Given the description of an element on the screen output the (x, y) to click on. 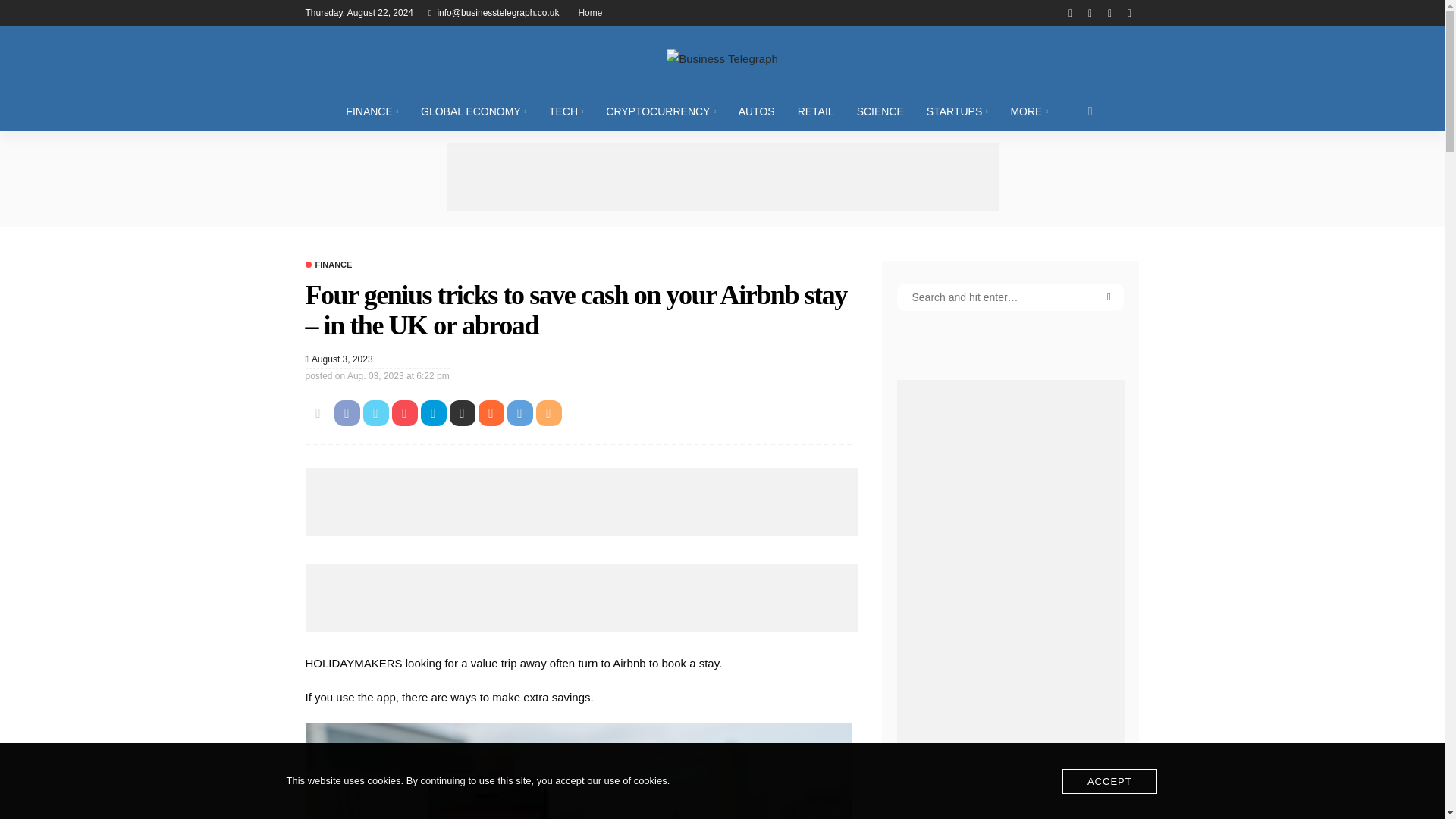
FINANCE (371, 111)
Home (590, 12)
search (1089, 111)
finance (328, 265)
Business Telegraph (721, 58)
